Given the description of an element on the screen output the (x, y) to click on. 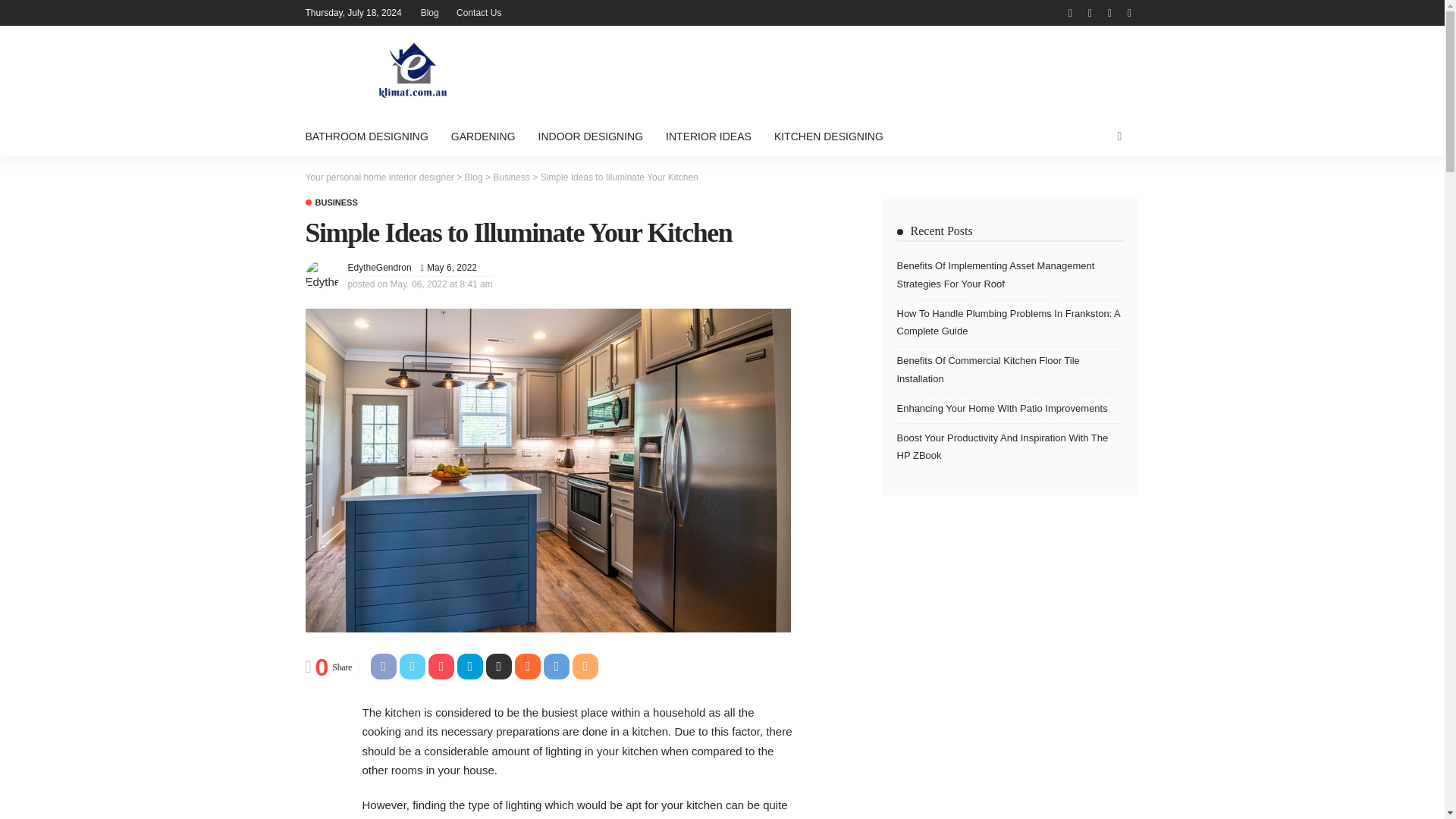
EdytheGendron (378, 267)
BATHROOM DESIGNING (371, 136)
Blog (429, 12)
Business (511, 176)
BUSINESS (330, 203)
Business (330, 203)
Go to Blog. (473, 176)
search (1118, 136)
INDOOR DESIGNING (590, 136)
Go to Your personal home interior designer. (378, 176)
Your personal home interior designer (378, 176)
Contact Us (478, 12)
INTERIOR IDEAS (707, 136)
Go to the Business Category archives. (511, 176)
KITCHEN DESIGNING (828, 136)
